Given the description of an element on the screen output the (x, y) to click on. 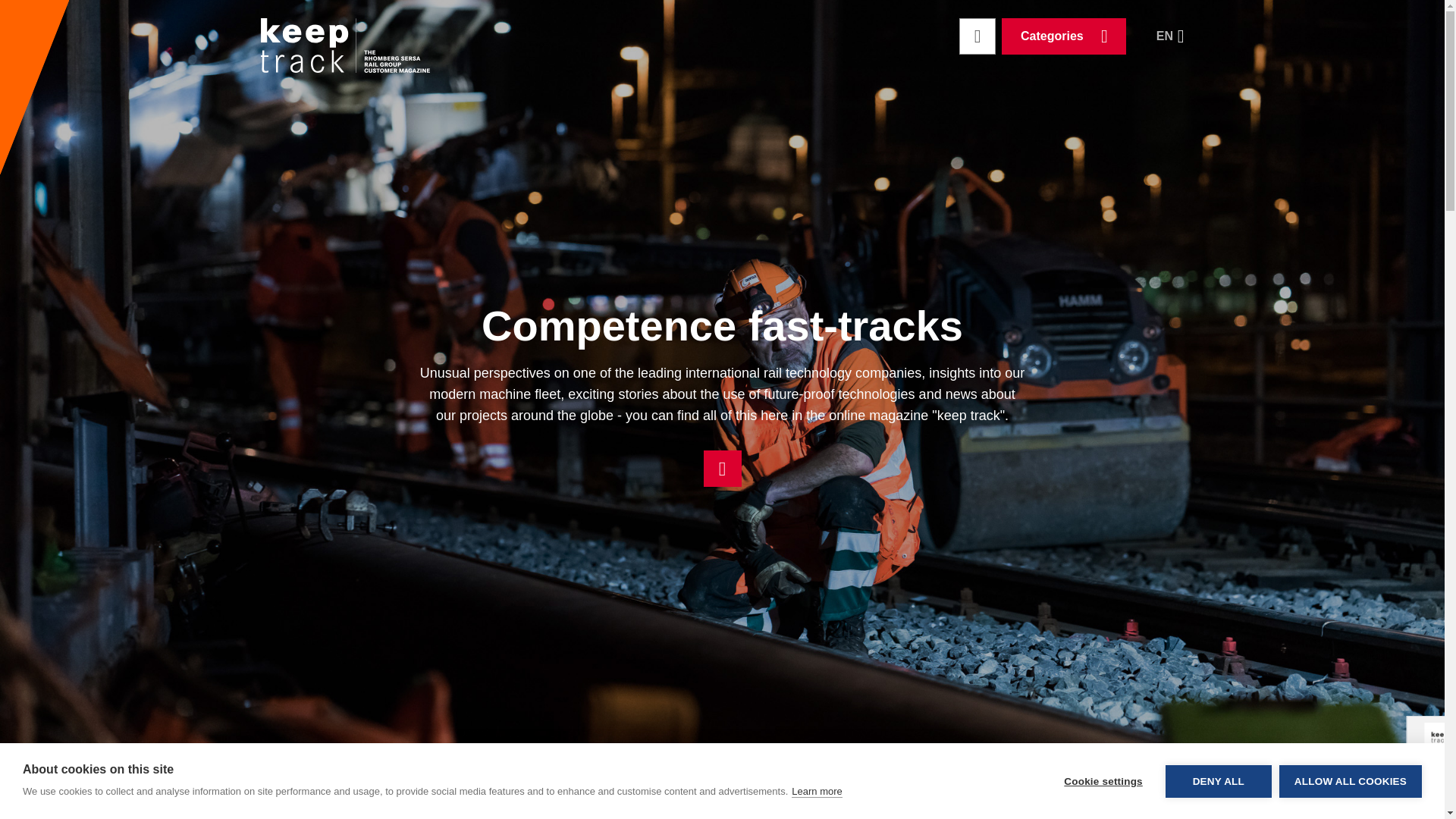
Categories (1063, 36)
